Given the description of an element on the screen output the (x, y) to click on. 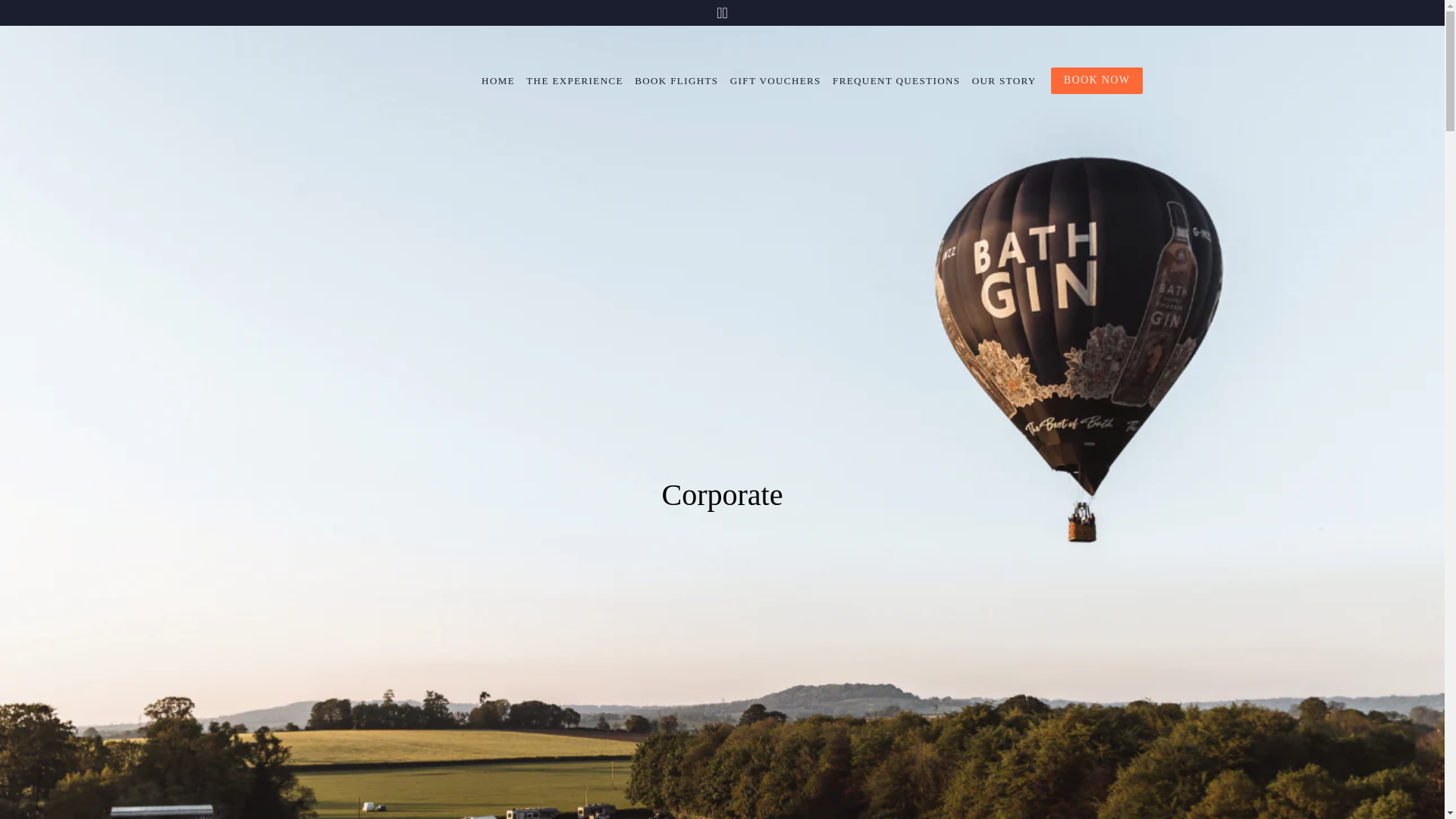
BOOK NOW (1096, 80)
BOOK FLIGHTS (676, 81)
GIFT VOUCHERS (775, 81)
OUR STORY (1002, 81)
FREQUENT QUESTIONS (895, 81)
HOME (499, 81)
THE EXPERIENCE (574, 81)
